Given the description of an element on the screen output the (x, y) to click on. 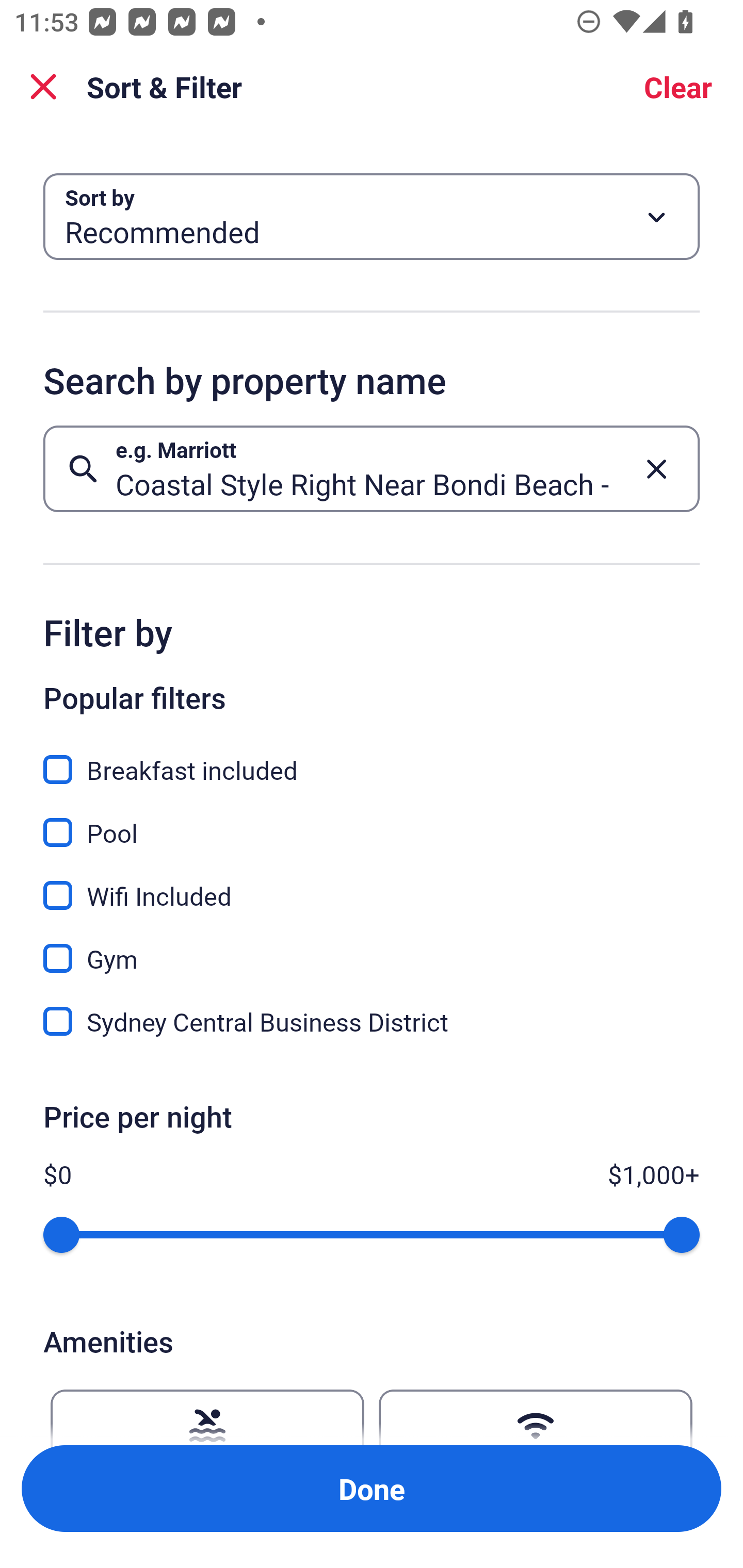
Close Sort and Filter (43, 86)
Clear (677, 86)
Sort by Button Recommended (371, 217)
Breakfast included, Breakfast included (371, 757)
Pool, Pool (371, 821)
Wifi Included, Wifi Included (371, 883)
Gym, Gym (371, 946)
Apply and close Sort and Filter Done (371, 1488)
